Given the description of an element on the screen output the (x, y) to click on. 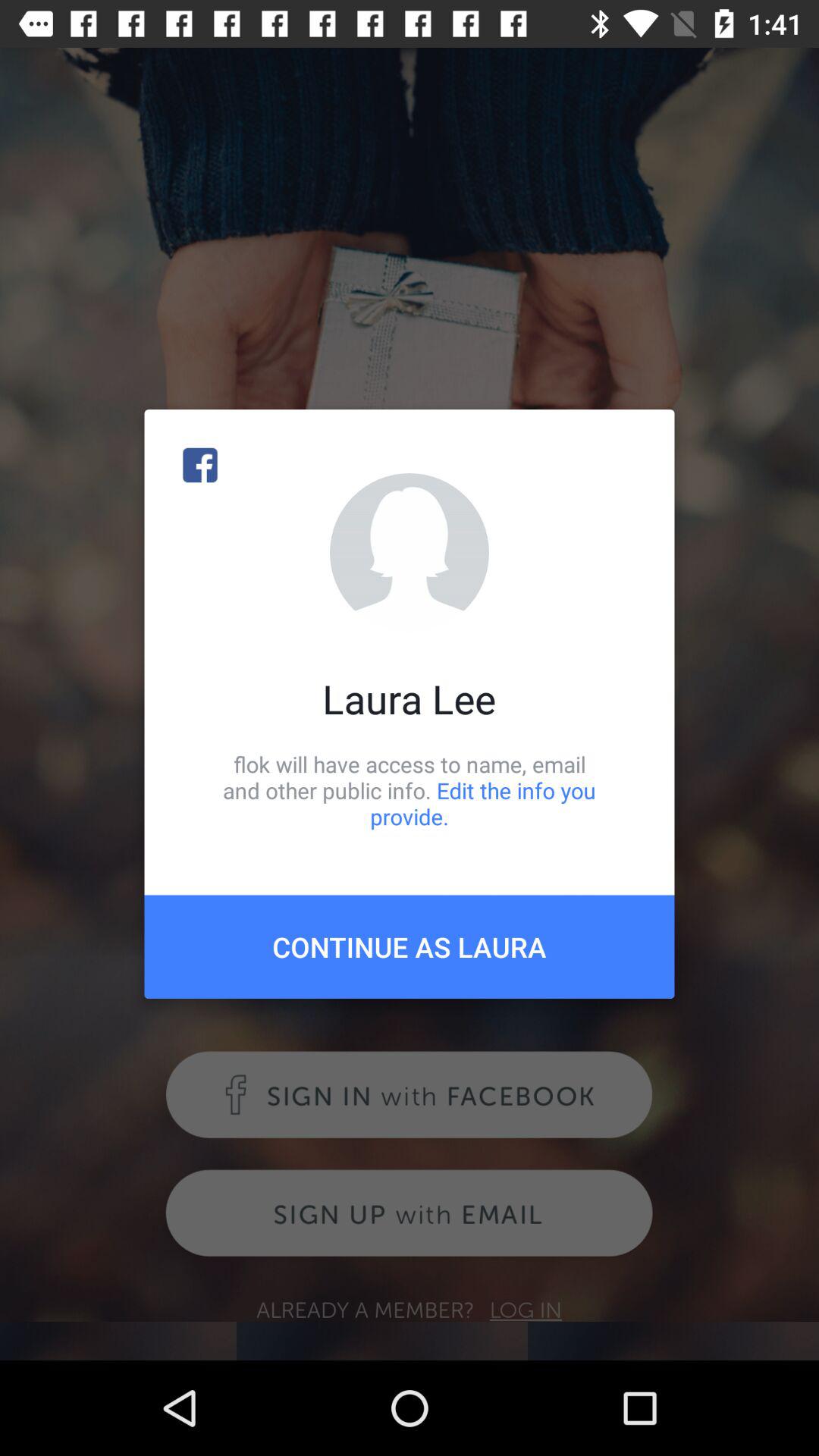
swipe to the continue as laura (409, 946)
